Given the description of an element on the screen output the (x, y) to click on. 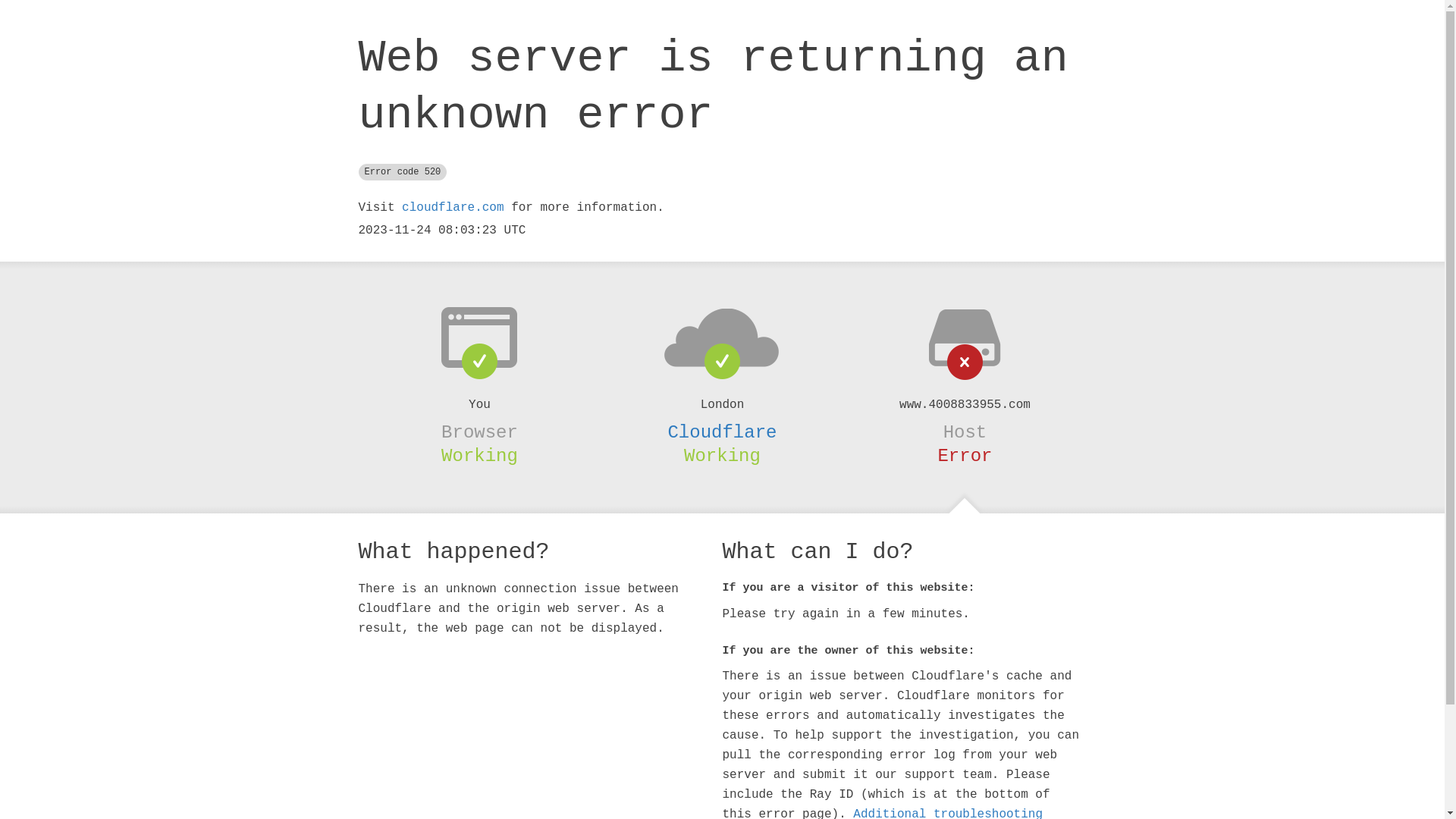
Cloudflare Element type: text (721, 432)
cloudflare.com Element type: text (452, 207)
